Given the description of an element on the screen output the (x, y) to click on. 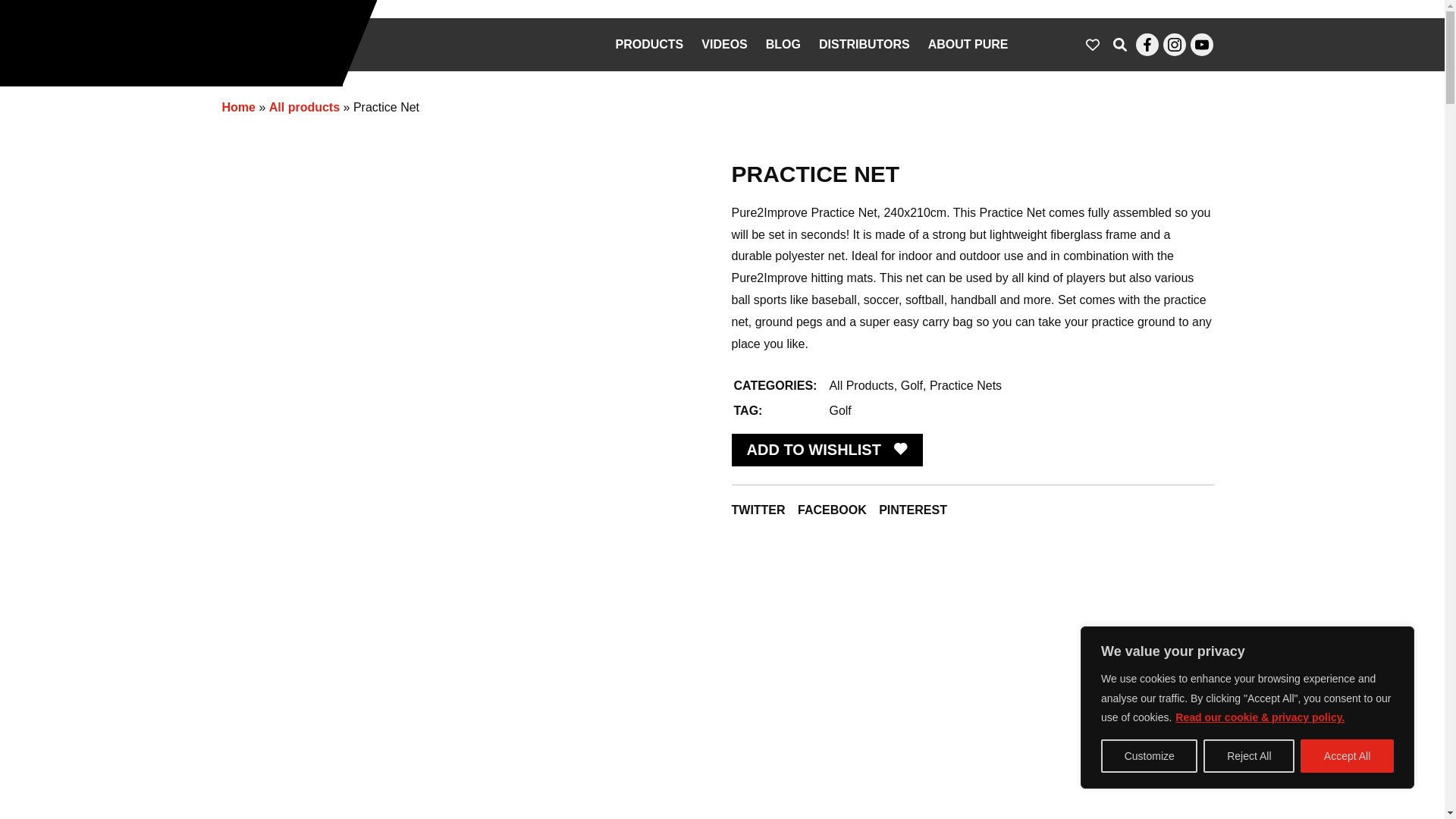
ABOUT PURE (967, 44)
Customize (1148, 756)
PRODUCTS (650, 44)
DISTRIBUTORS (863, 44)
VIDEOS (724, 44)
Reject All (1249, 756)
Youtube (1201, 44)
Instagram (1174, 44)
Tweet this (757, 509)
BLOG (783, 44)
